Given the description of an element on the screen output the (x, y) to click on. 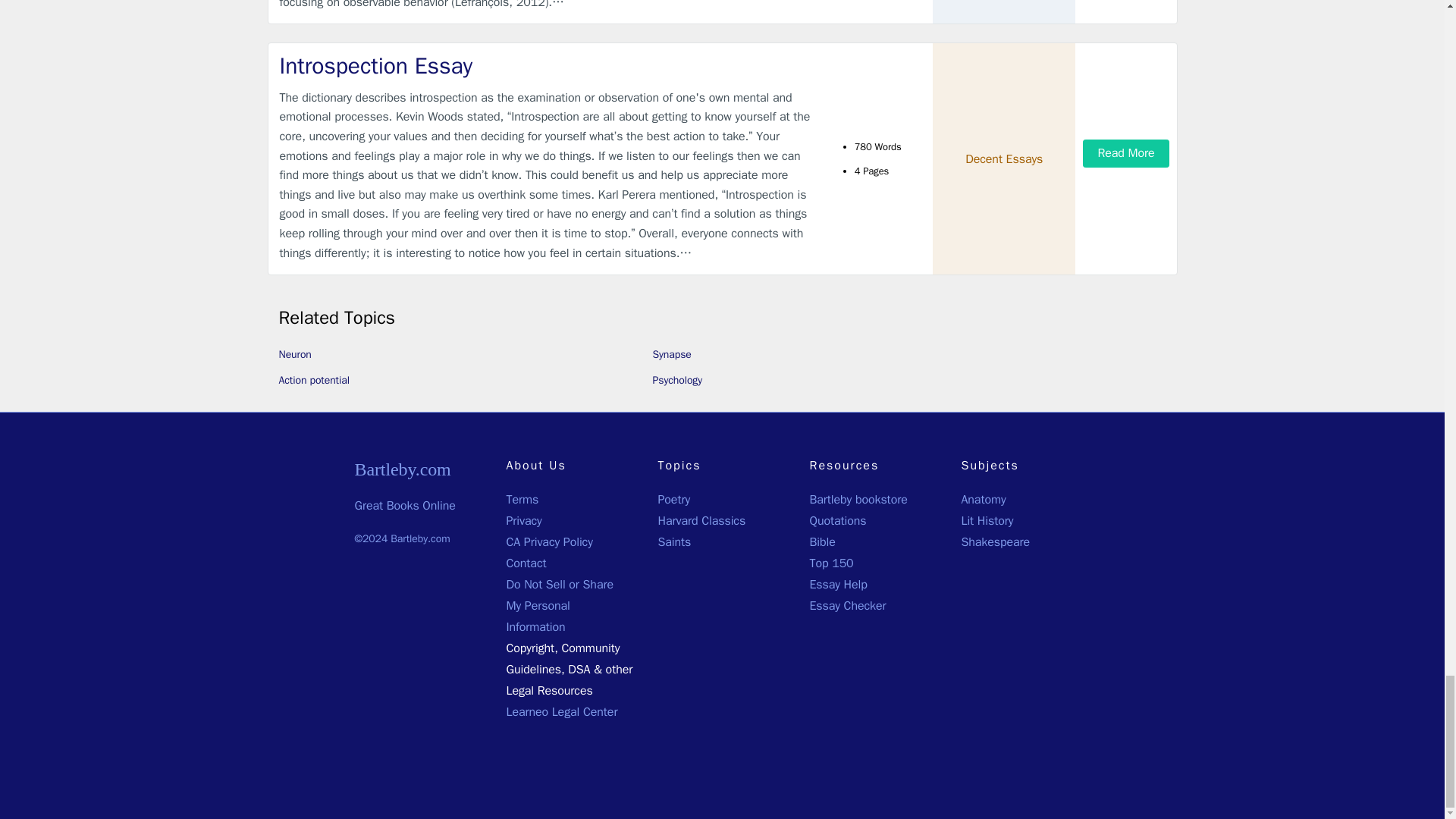
Action potential (314, 379)
Neuron (295, 354)
Synapse (671, 354)
Psychology (676, 379)
